Given the description of an element on the screen output the (x, y) to click on. 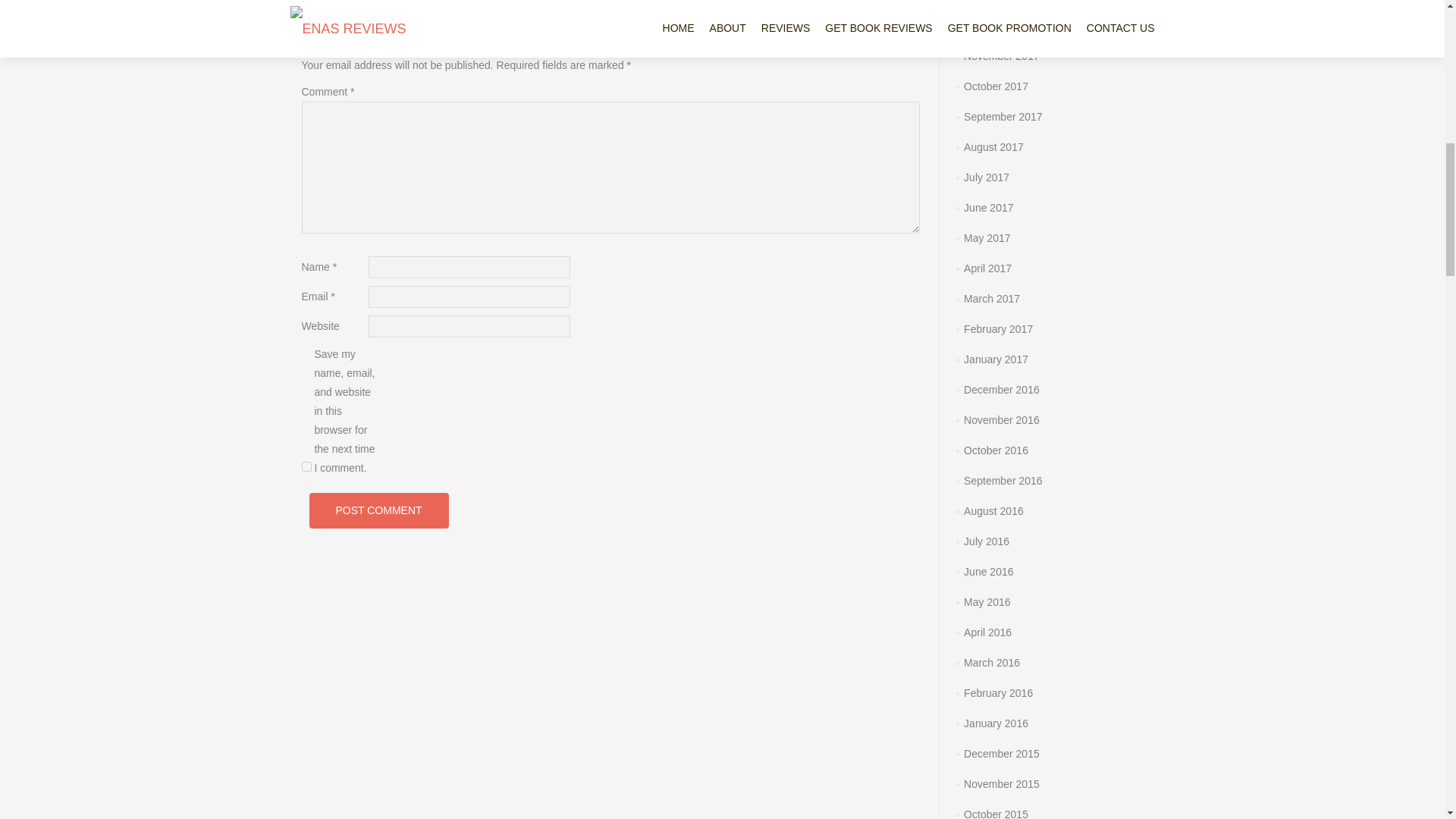
yes (306, 466)
Post Comment (378, 510)
January 2018 (995, 0)
Post Comment (378, 510)
